Given the description of an element on the screen output the (x, y) to click on. 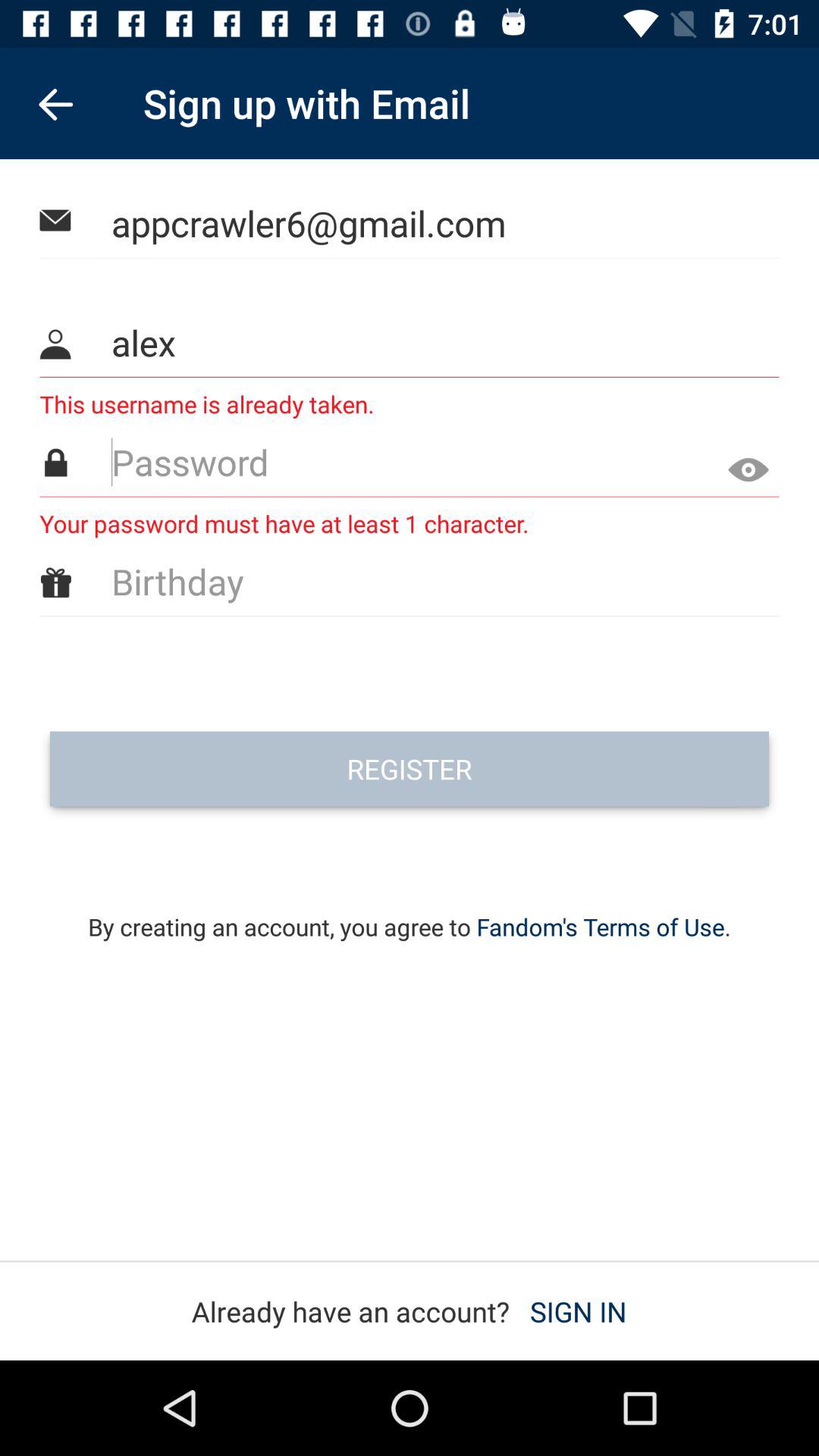
select register item (409, 768)
